Given the description of an element on the screen output the (x, y) to click on. 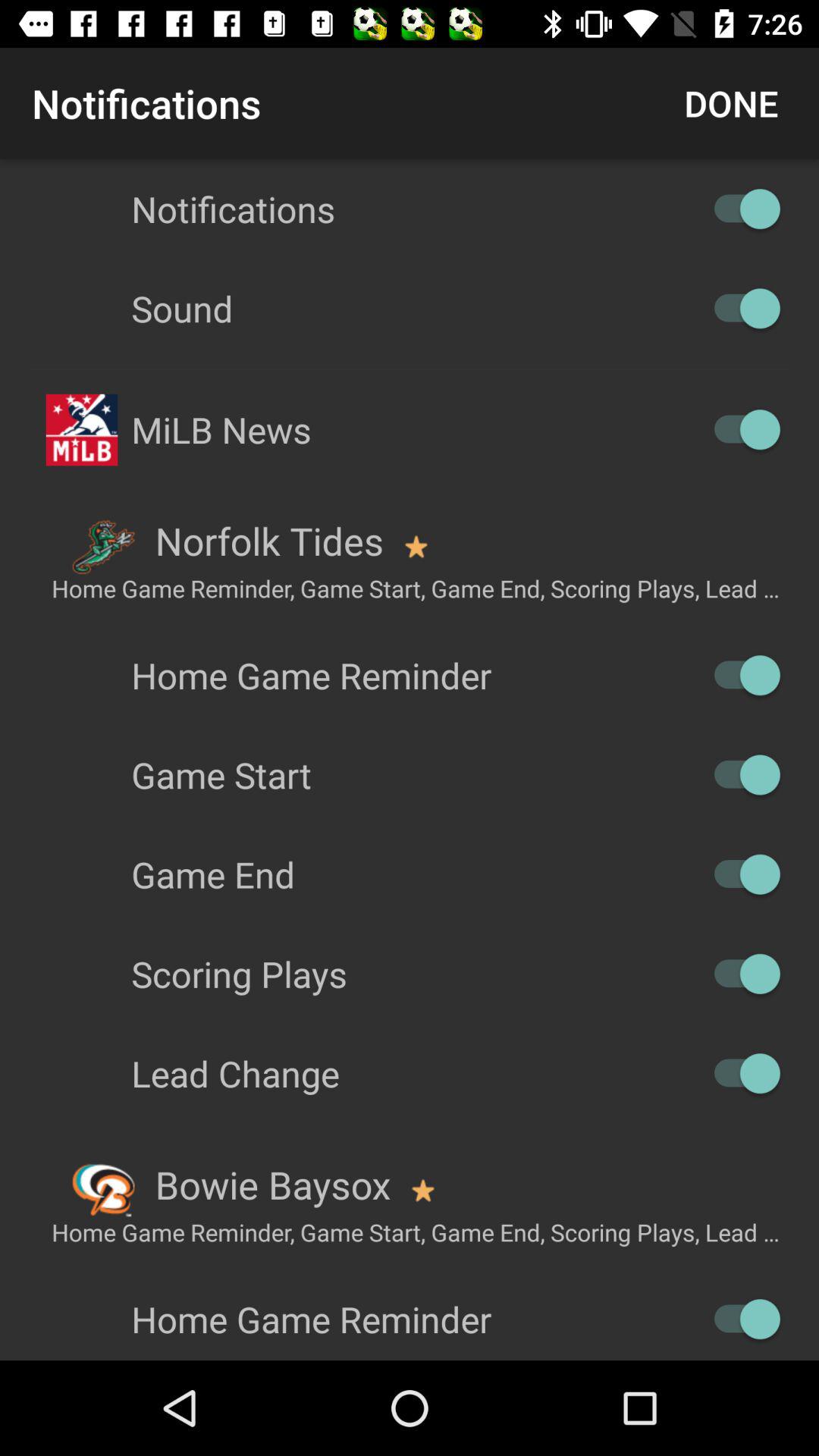
option on/off button (739, 429)
